Given the description of an element on the screen output the (x, y) to click on. 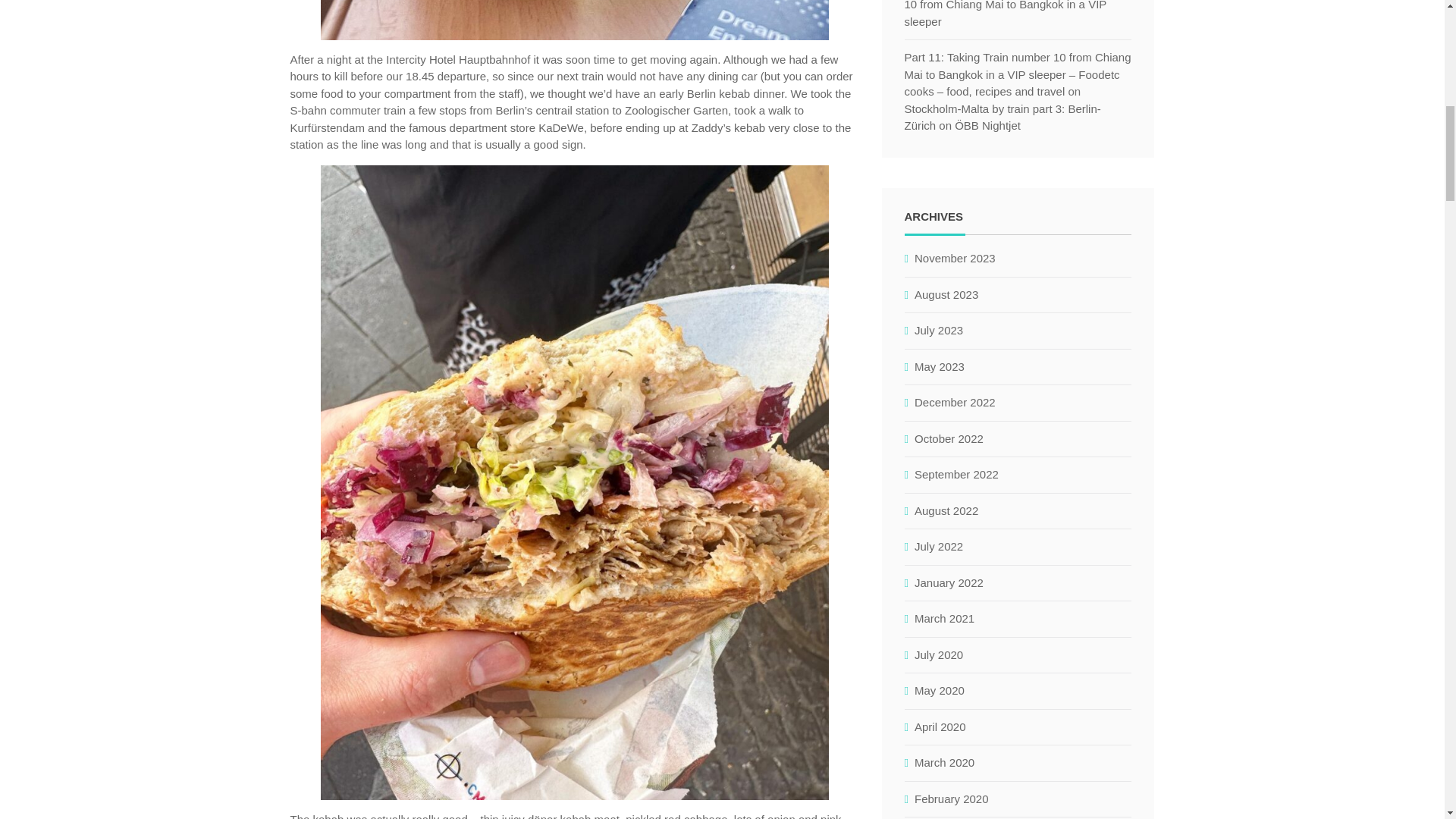
July 2023 (938, 330)
November 2023 (954, 258)
August 2023 (946, 294)
